Given the description of an element on the screen output the (x, y) to click on. 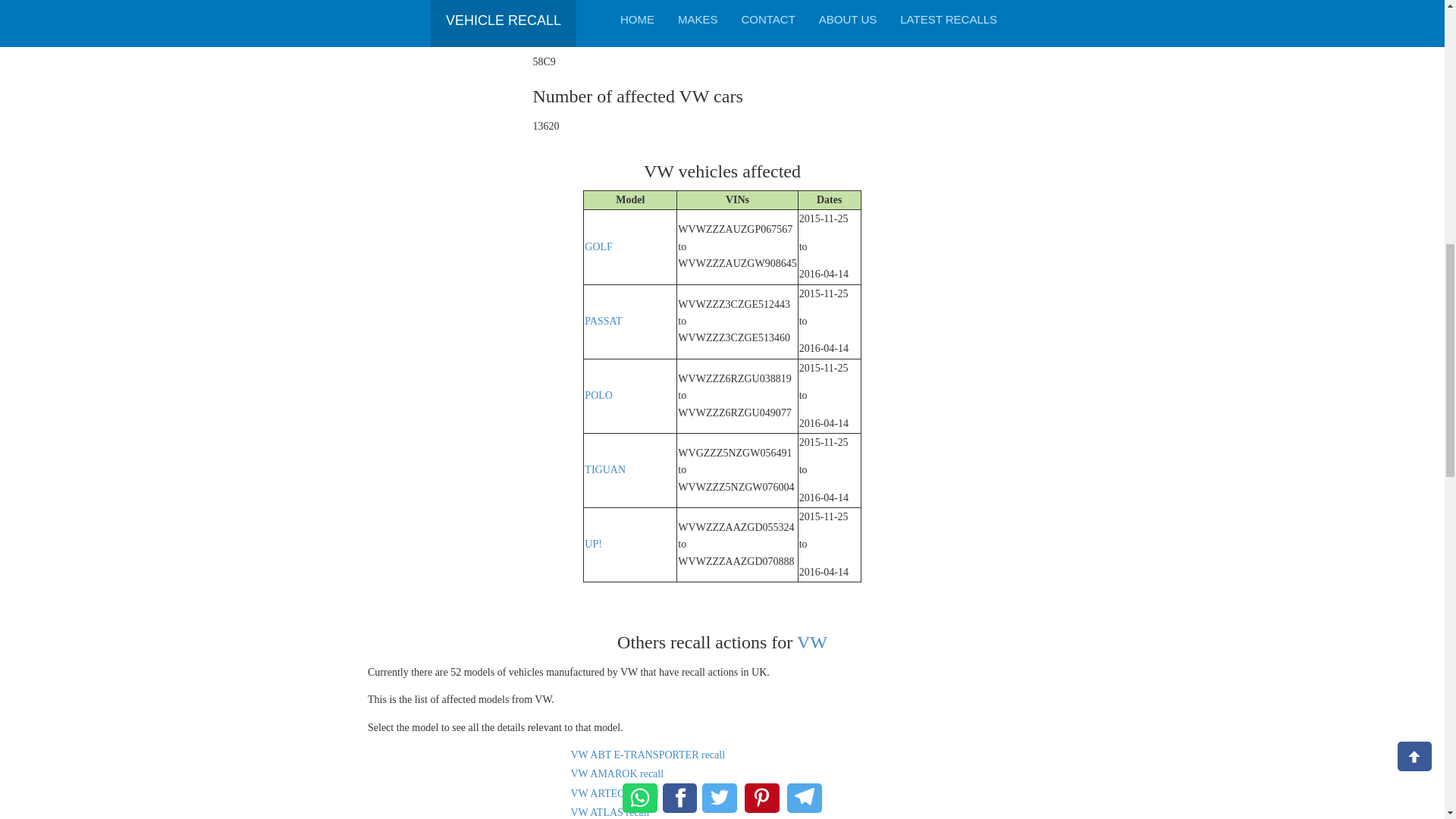
TIGUAN (605, 469)
VW AMAROK recall (616, 773)
POLO (598, 395)
VW ABT E-TRANSPORTER Recalls in UK (647, 754)
VW AMAROK Recalls in UK (616, 773)
VW Recalls in UK (811, 641)
PASSAT (603, 320)
VW ATLAS Recalls in UK (609, 812)
VW ABT E-TRANSPORTER recall (647, 754)
VW (811, 641)
